Given the description of an element on the screen output the (x, y) to click on. 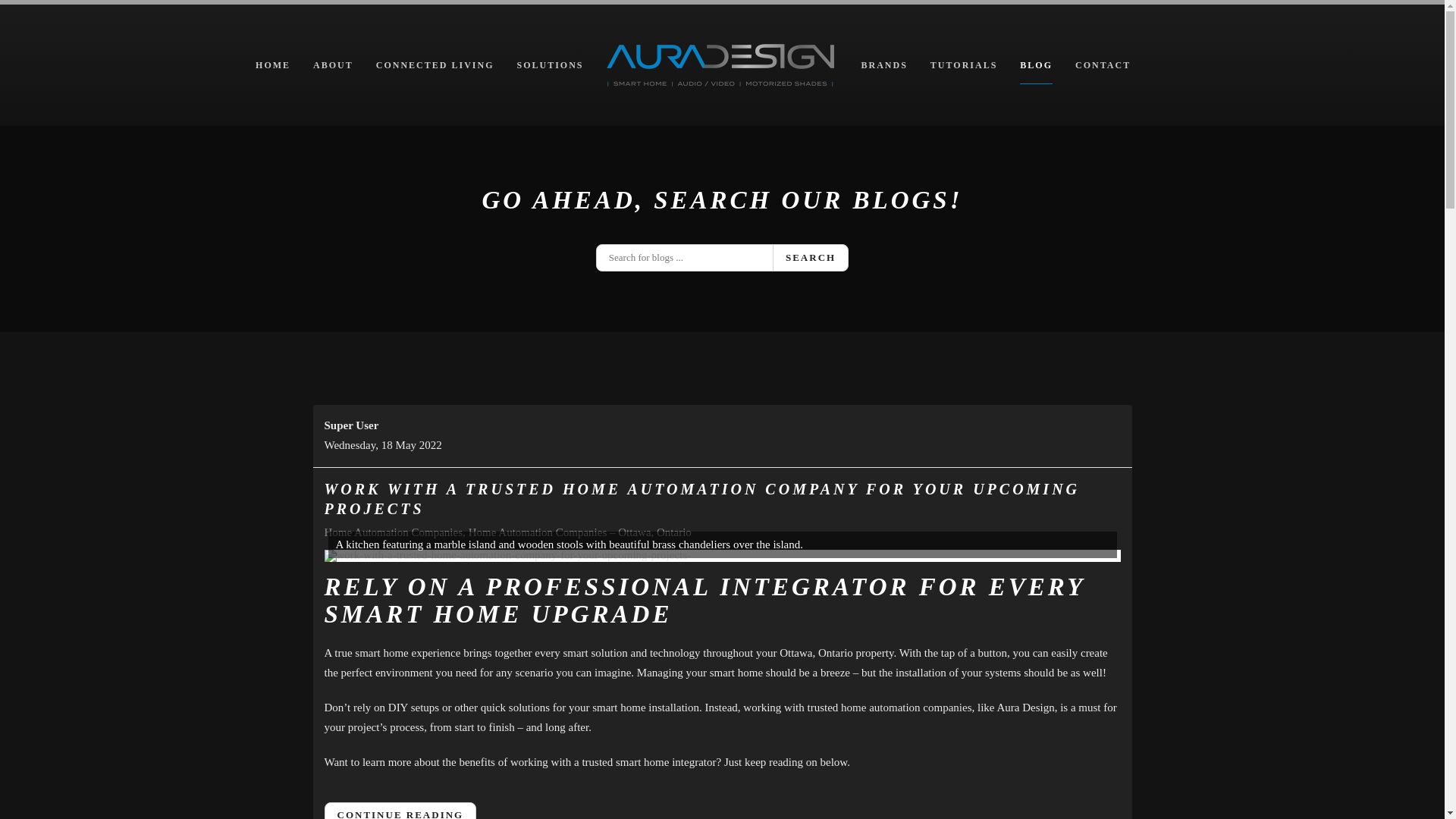
ABOUT Element type: text (333, 65)
home automation companies Element type: text (905, 707)
CONNECTED LIVING Element type: text (435, 65)
CONTACT Element type: text (1102, 65)
BRANDS Element type: text (884, 65)
BLOG Element type: text (1035, 65)
Super User Element type: text (351, 425)
SEARCH Element type: text (810, 257)
TUTORIALS Element type: text (963, 65)
SOLUTIONS Element type: text (549, 65)
HOME Element type: text (272, 65)
Home Automation Companies Element type: text (393, 532)
